Given the description of an element on the screen output the (x, y) to click on. 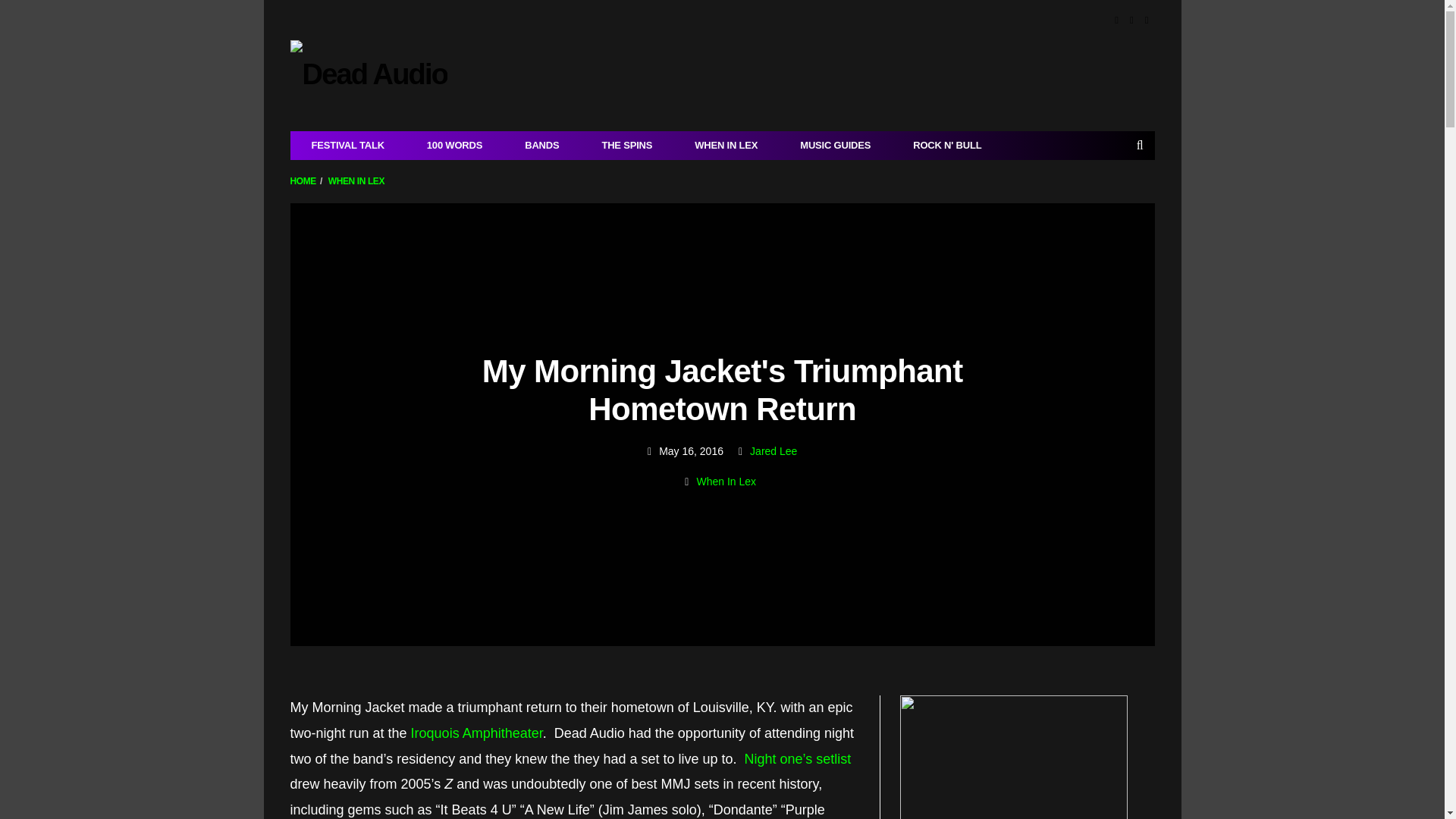
ROCK N' BULL (947, 145)
100 WORDS (454, 145)
When In Lex (725, 482)
WHEN IN LEX (725, 145)
MUSIC GUIDES (834, 145)
THE SPINS (625, 145)
Jared Lee (772, 451)
BANDS (541, 145)
FESTIVAL TALK (346, 145)
WHEN IN LEX (356, 181)
